Given the description of an element on the screen output the (x, y) to click on. 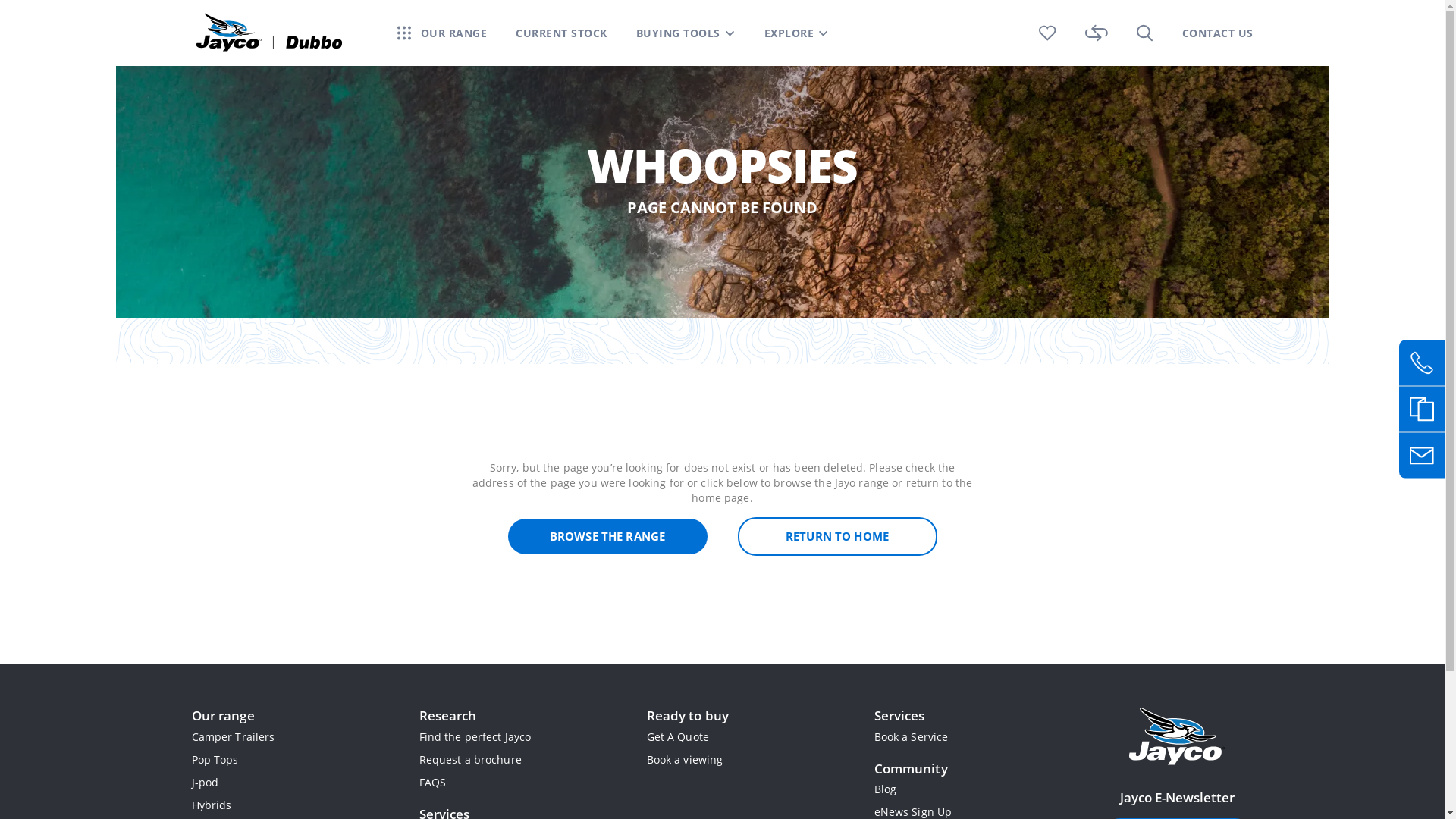
Find the perfect Jayco Element type: text (474, 736)
Camper Trailers Element type: text (232, 736)
Ready to buy Element type: text (687, 715)
Pop Tops Element type: text (214, 759)
BROWSE THE RANGE Element type: text (607, 536)
Research Element type: text (447, 715)
Book a viewing Element type: text (684, 759)
RETURN TO HOME Element type: text (836, 536)
Request a brochure Element type: text (469, 759)
Blog Element type: text (884, 788)
Community Element type: text (910, 768)
FAQS Element type: text (431, 782)
CONTACT US Element type: text (1216, 32)
OUR RANGE Element type: text (442, 32)
BUYING TOOLS Element type: text (684, 32)
BUYING TOOLS Element type: text (677, 32)
Book a Service Element type: text (910, 736)
EXPLORE Element type: text (796, 32)
CURRENT STOCK Element type: text (561, 32)
CONTACT US Element type: text (1216, 32)
Get A Quote Element type: text (677, 736)
J-pod Element type: text (204, 782)
Services Element type: text (898, 715)
OUR RANGE Element type: text (453, 32)
EXPLORE Element type: text (789, 32)
CURRENT STOCK Element type: text (561, 32)
Our range Element type: text (222, 715)
Hybrids Element type: text (211, 804)
